Given the description of an element on the screen output the (x, y) to click on. 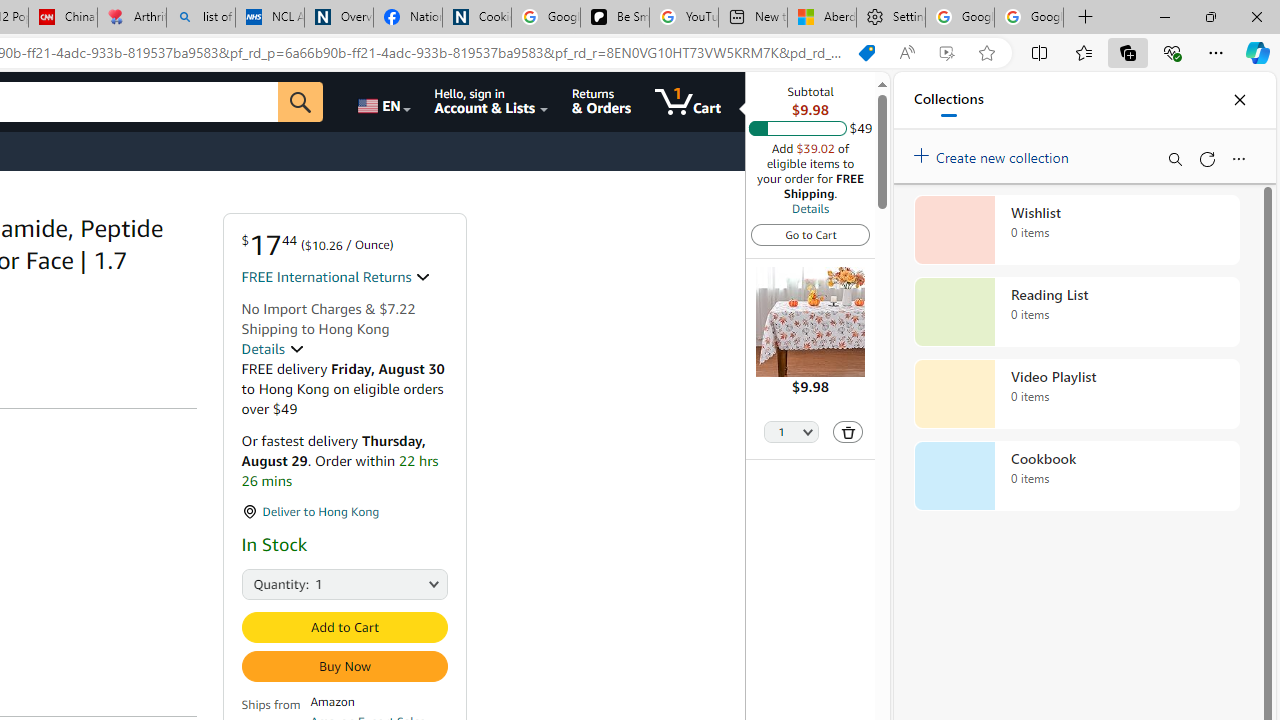
1 item in cart (687, 101)
Be Smart | creating Science videos | Patreon (614, 17)
Quantity: (263, 582)
Enhance video (946, 53)
Details (810, 208)
Go (300, 101)
More options menu (1238, 158)
Create new collection (994, 153)
